Given the description of an element on the screen output the (x, y) to click on. 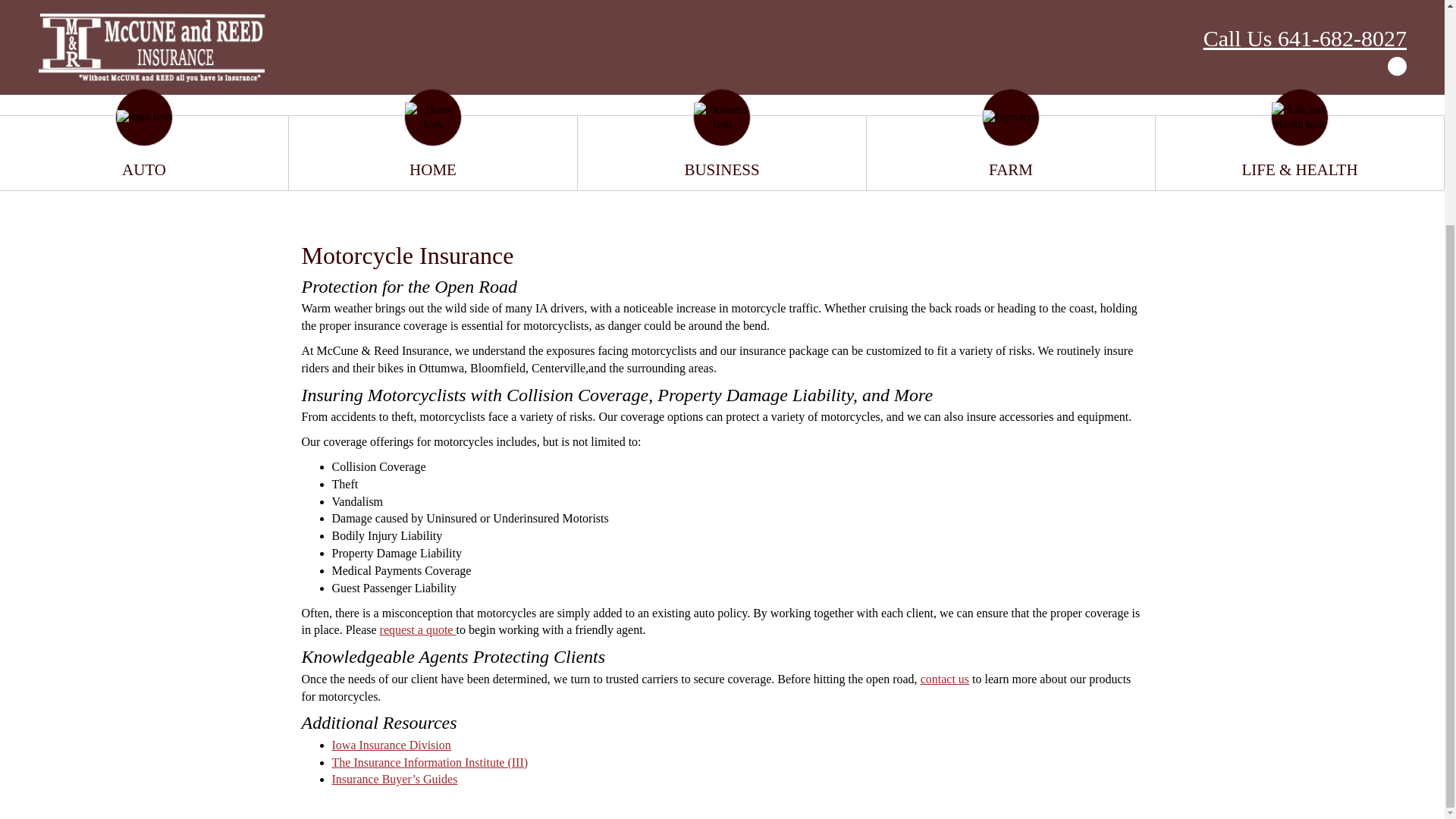
HOME (991, 490)
OUR AGENCY (1066, 490)
PRODUCTS (1154, 490)
